Given the description of an element on the screen output the (x, y) to click on. 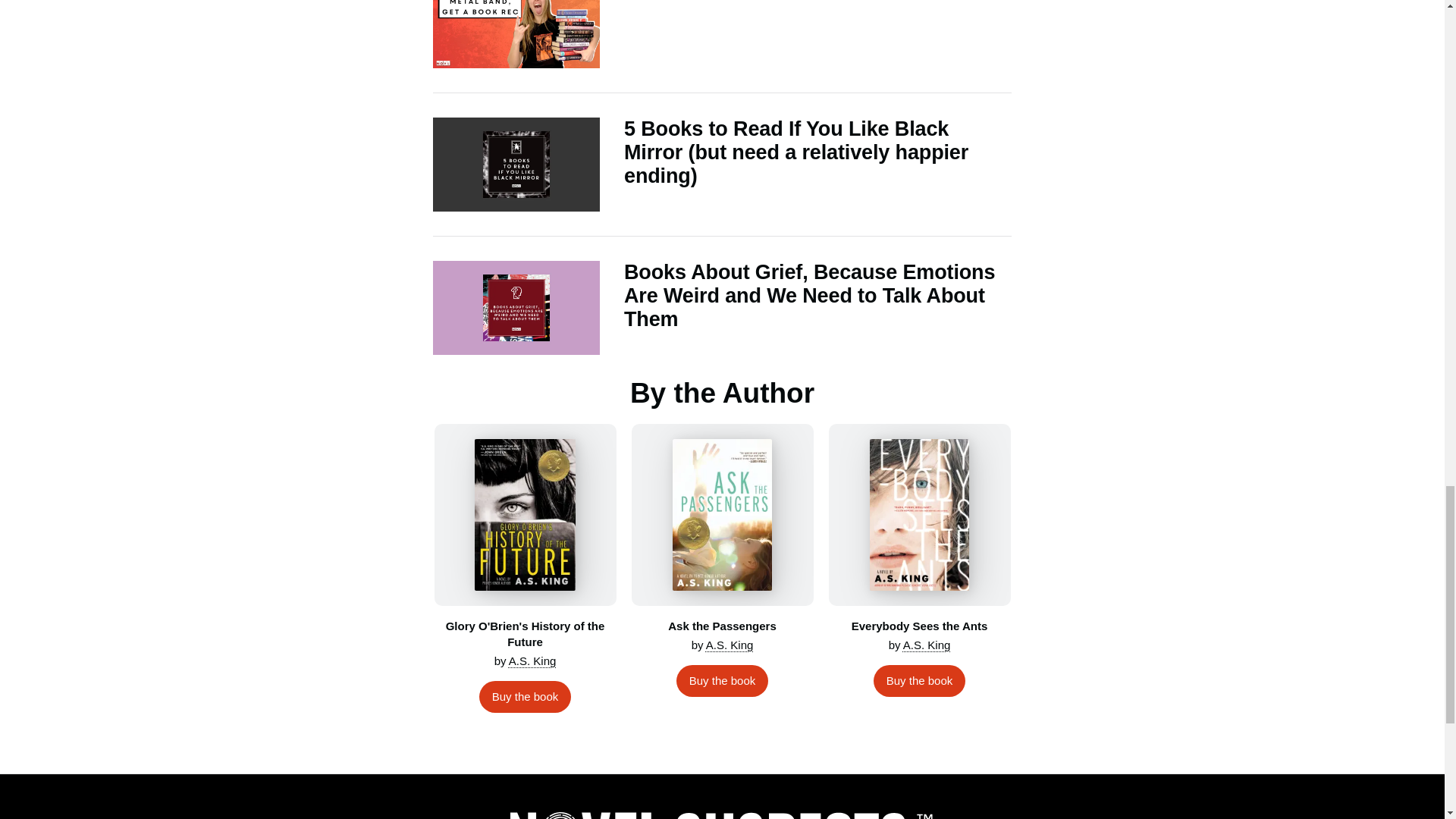
Choose a Metal Band, Get a Book Rec (721, 34)
Ask the Passengers (721, 515)
Everybody Sees the Ants (919, 515)
Buy the book (525, 696)
A.S. King (532, 660)
A.S. King (730, 644)
Glory O'Brien's History of the Future (524, 515)
Buy the book (722, 680)
